Given the description of an element on the screen output the (x, y) to click on. 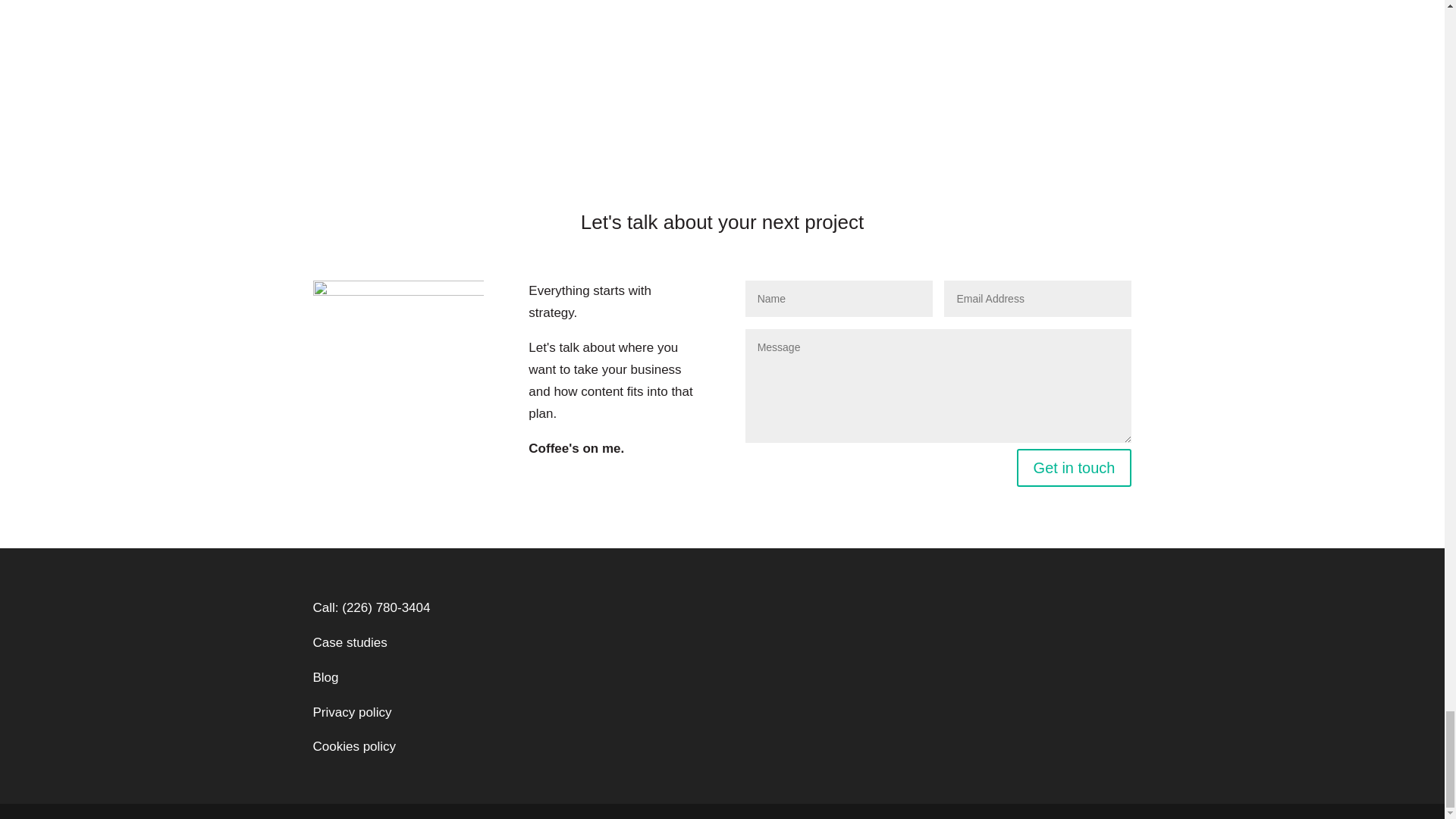
Cookies policy (354, 746)
Andrew Webb Author Bio 2023 (398, 365)
Case studies (350, 642)
Privacy policy (352, 712)
Blog (325, 677)
Get in touch (1074, 467)
